Given the description of an element on the screen output the (x, y) to click on. 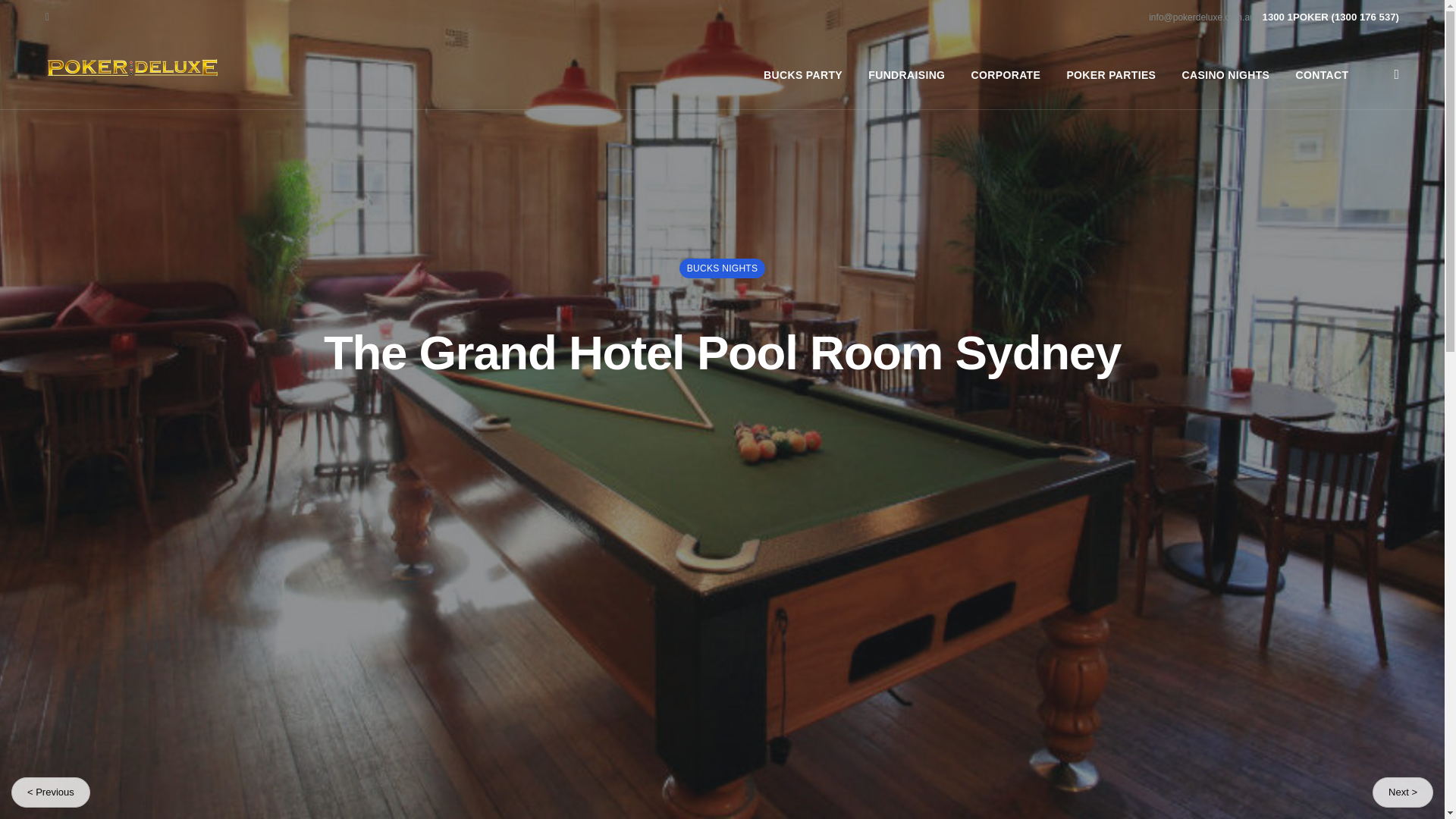
Poker Deluxe Logo (139, 67)
Bucks Parties (763, 589)
Poker Deluxe Logo (133, 67)
Poker Deluxe Logo (183, 559)
Corporate Events (772, 638)
Fundraising Events (777, 613)
